Given the description of an element on the screen output the (x, y) to click on. 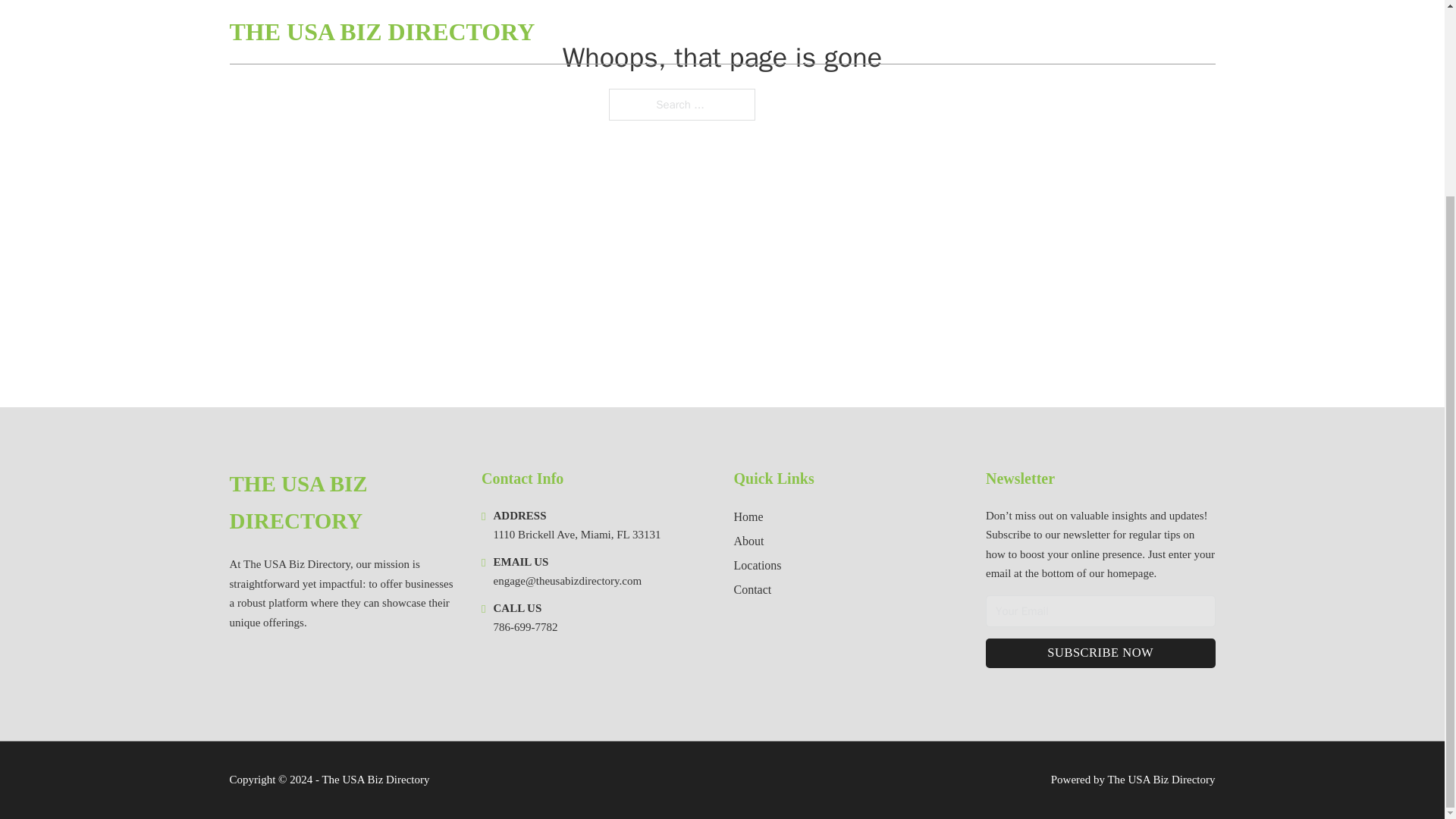
SUBSCRIBE NOW (1100, 653)
About (748, 540)
786-699-7782 (525, 626)
Home (747, 516)
Contact (752, 589)
Locations (757, 565)
THE USA BIZ DIRECTORY (343, 503)
